Given the description of an element on the screen output the (x, y) to click on. 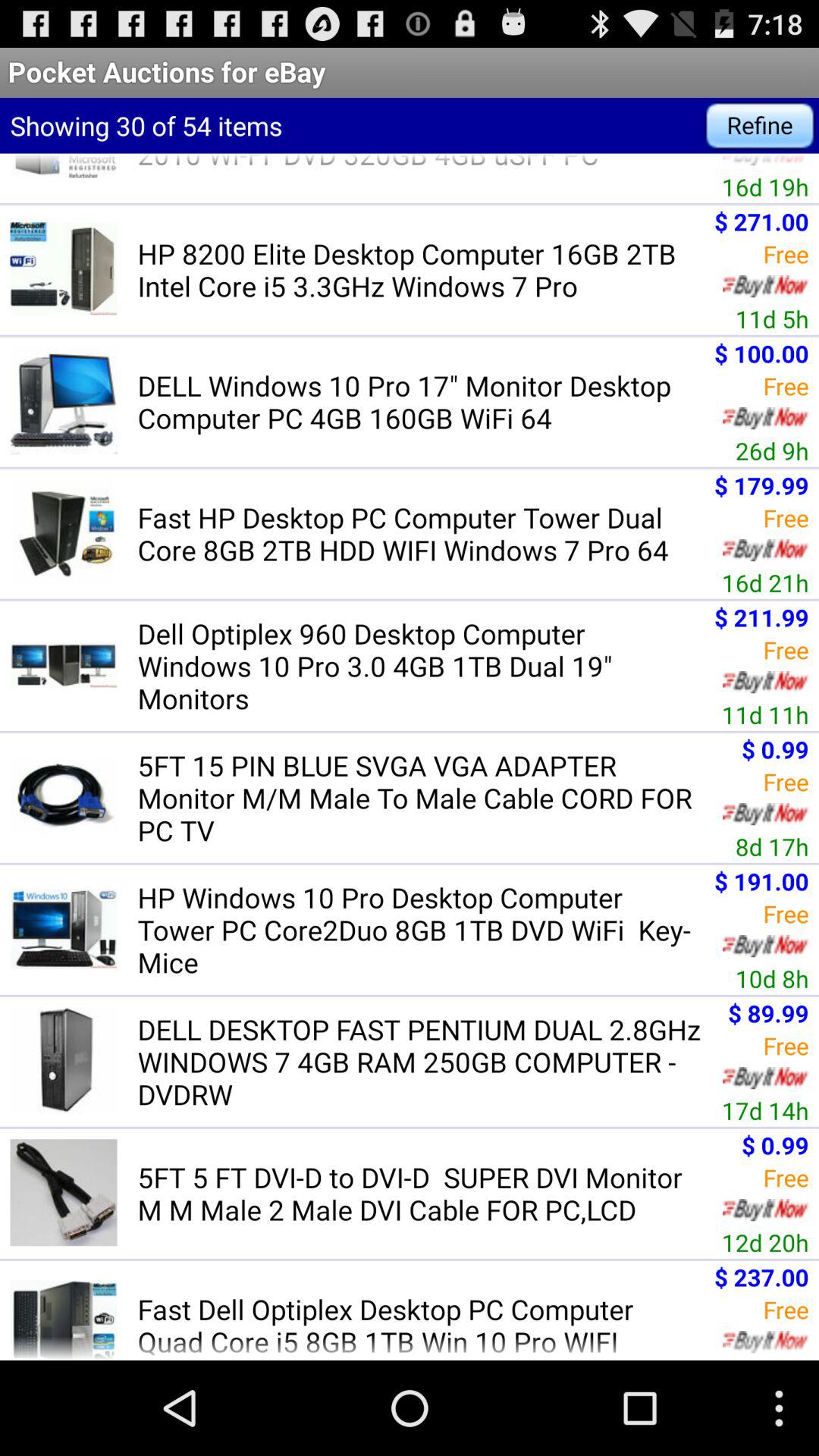
press icon to the right of hp windows 10 (771, 978)
